Given the description of an element on the screen output the (x, y) to click on. 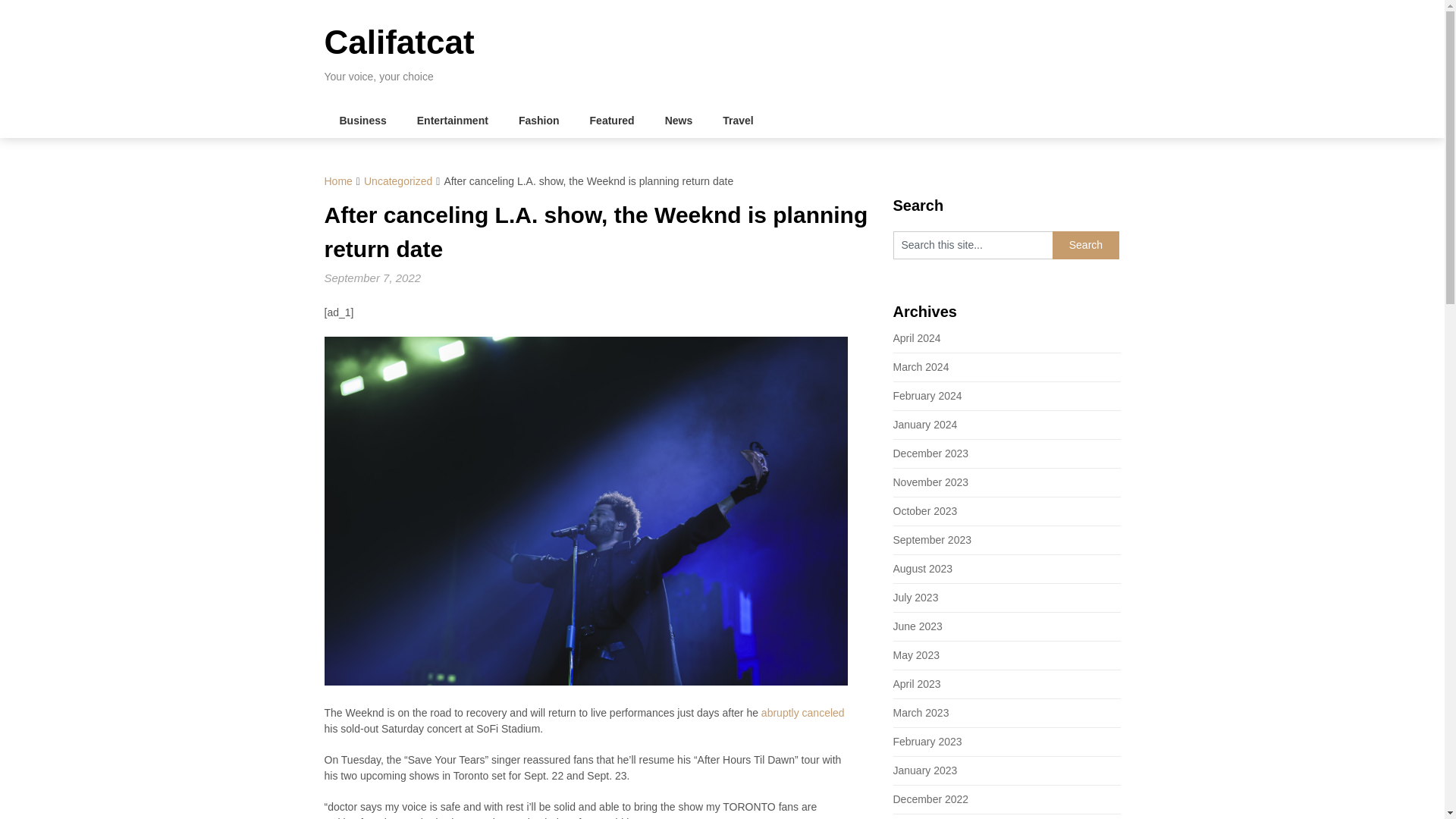
December 2022 (931, 799)
July 2023 (916, 597)
May 2023 (916, 654)
February 2024 (927, 395)
December 2023 (931, 453)
April 2024 (916, 337)
Search (1085, 244)
Uncategorized (398, 181)
Travel (737, 121)
an Instagram post. (681, 817)
August 2023 (923, 568)
January 2024 (925, 424)
February 2023 (927, 741)
Home (338, 181)
October 2023 (925, 510)
